Given the description of an element on the screen output the (x, y) to click on. 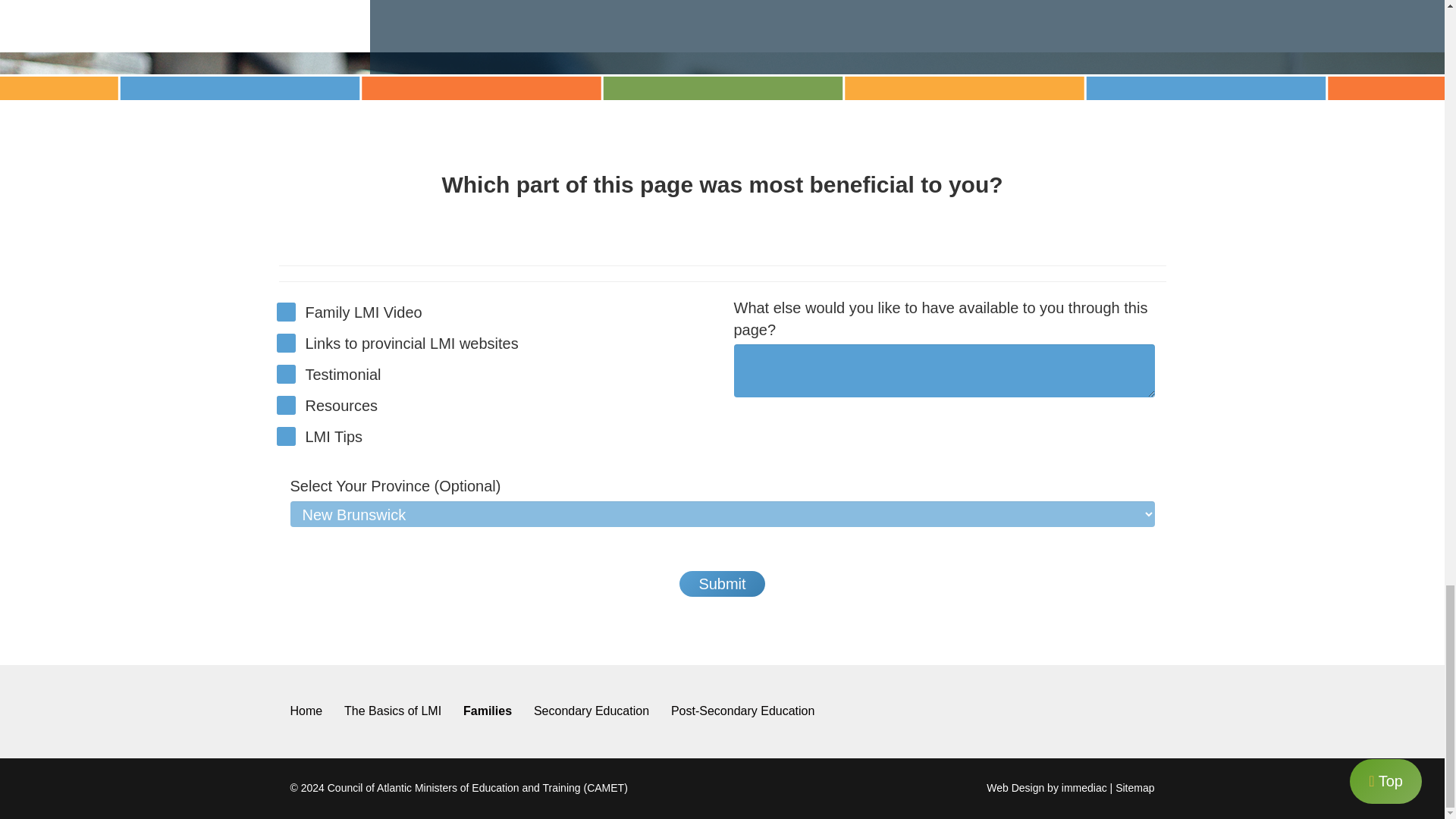
Post-Secondary Education (742, 710)
Secondary Education (591, 710)
Families (487, 710)
Web Design (1015, 787)
Sitemap (1134, 787)
Links to provincial LMI websites (285, 342)
Testimonial (285, 374)
LMI Tips (285, 435)
Submit (721, 583)
Submit (721, 583)
